Given the description of an element on the screen output the (x, y) to click on. 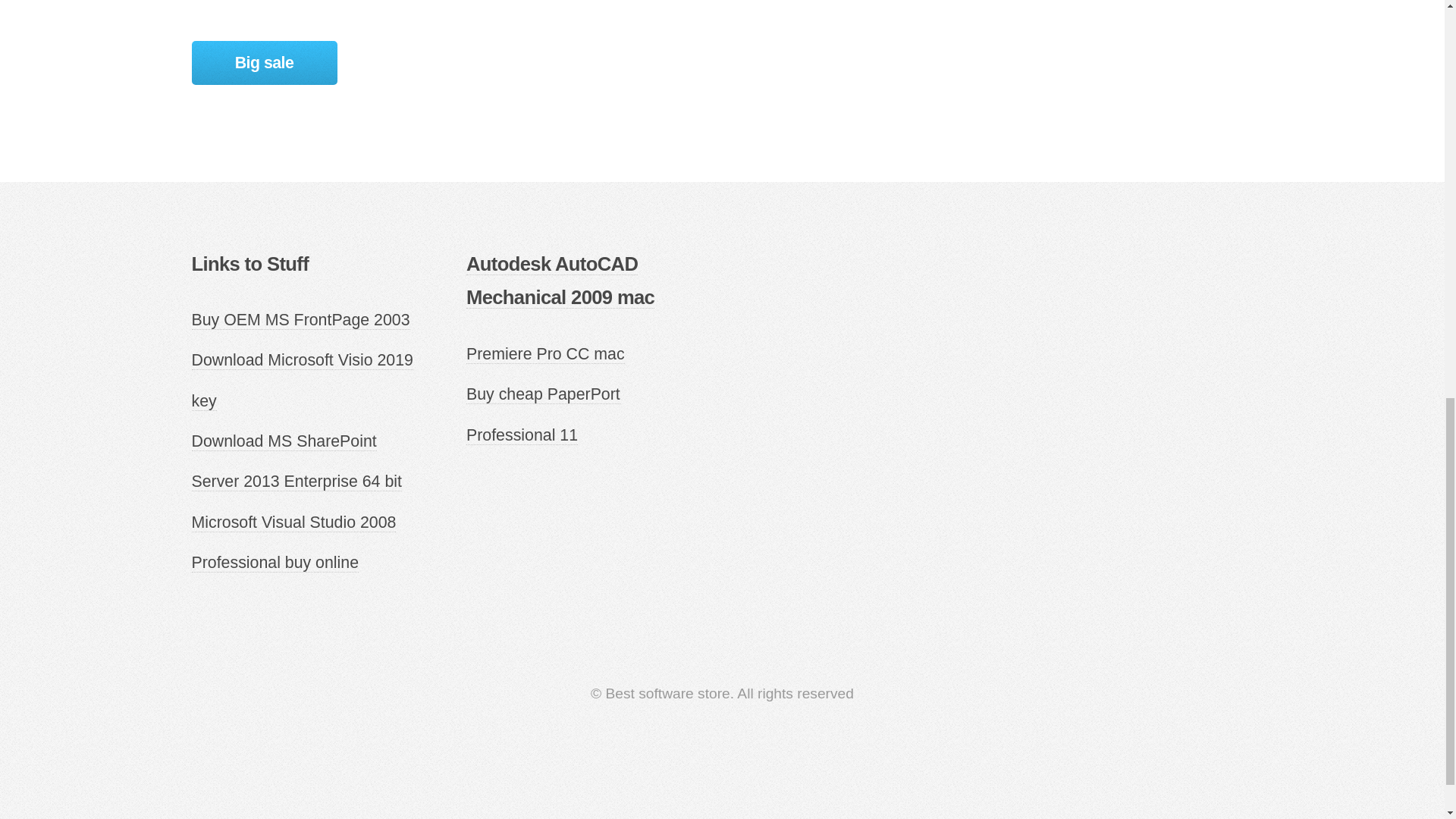
Buy OEM MS FrontPage 2003 (299, 320)
Premiere Pro CC mac (544, 353)
Autodesk AutoCAD Mechanical 2009 mac (559, 281)
Microsoft Visual Studio 2008 Professional buy online (293, 542)
Big sale (263, 62)
Download Microsoft Visio 2019 key (301, 380)
Download MS SharePoint Server 2013 Enterprise 64 bit (295, 461)
Buy cheap PaperPort Professional 11 (542, 414)
